Given the description of an element on the screen output the (x, y) to click on. 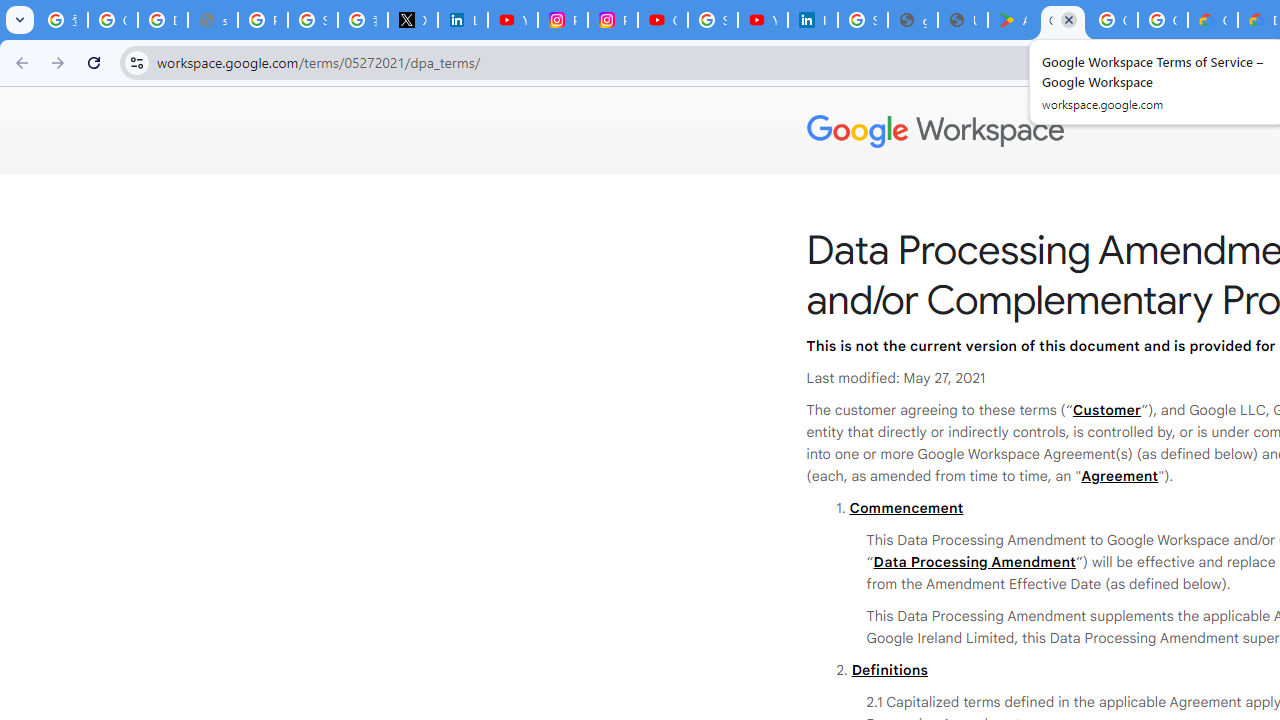
X (412, 20)
support.google.com - Network error (213, 20)
Customer Care | Google Cloud (1212, 20)
LinkedIn Privacy Policy (462, 20)
Sign in - Google Accounts (712, 20)
YouTube Content Monetization Policies - How YouTube Works (512, 20)
